Given the description of an element on the screen output the (x, y) to click on. 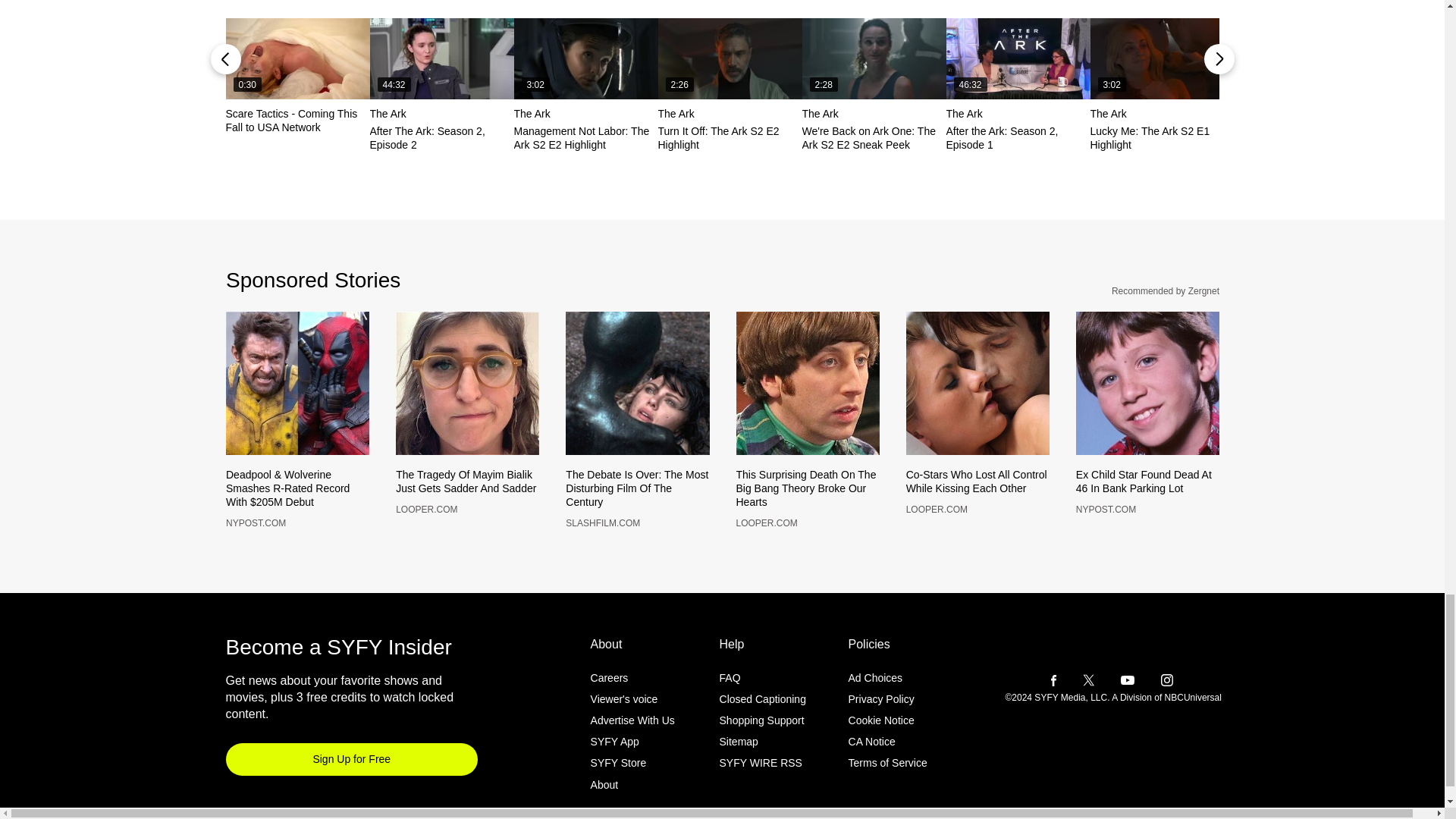
Advertise With Us (633, 745)
After The Ark: Season 2, Episode 2 (441, 58)
Turn It Off: The Ark S2 E2 Highlight (730, 58)
After the Ark: Season 2, Episode 1 (1018, 58)
Management Not Labor: The Ark S2 E2 Highlight (585, 58)
Lucky Me: The Ark S2 E1 Highlight (1162, 58)
We're Back on Ark One: The Ark S2 E2 Sneak Peek (874, 58)
Scare Tactics - Coming This Fall to USA Network (297, 58)
